Given the description of an element on the screen output the (x, y) to click on. 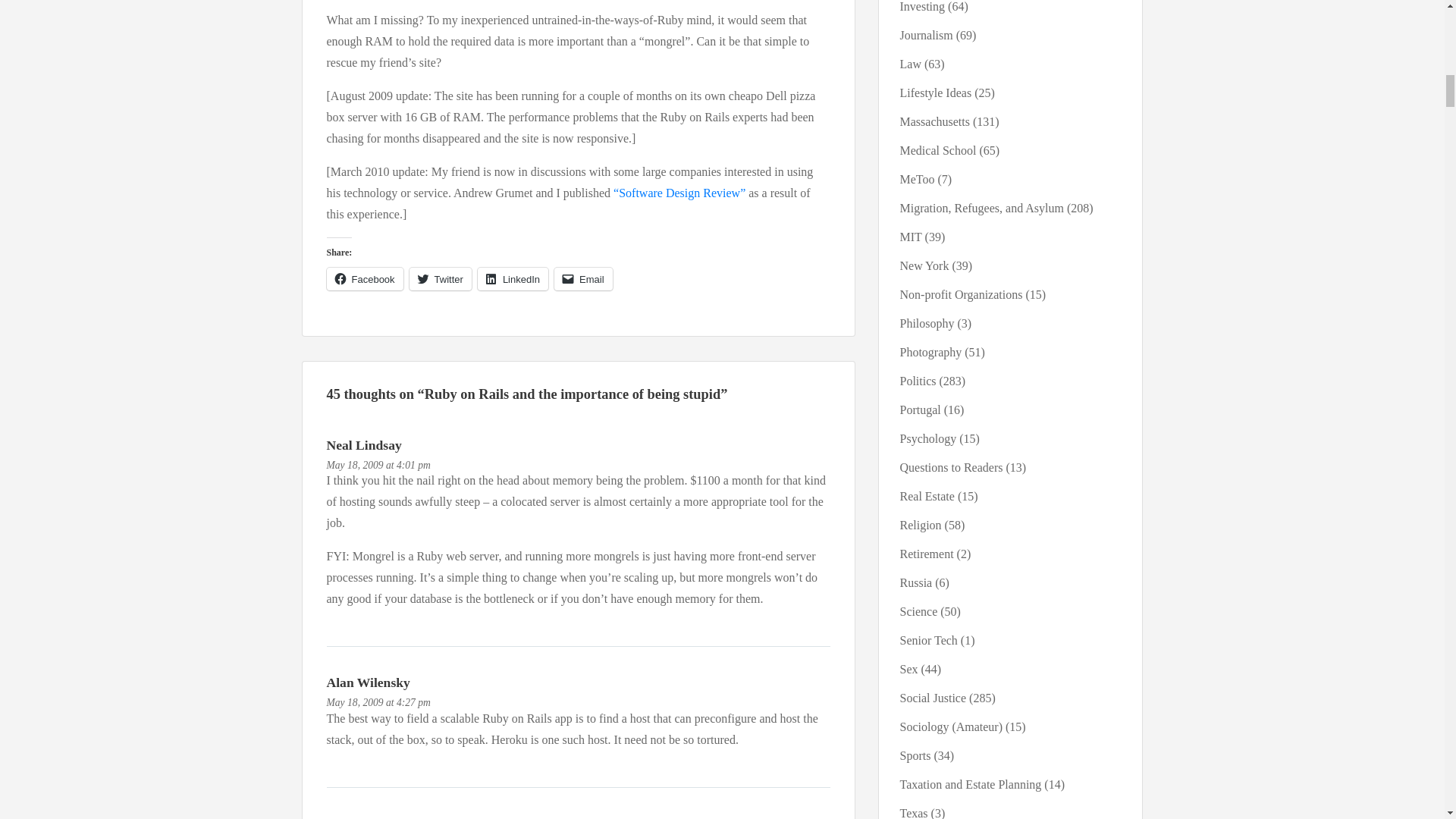
Dan Quellhorst (369, 817)
Neal Lindsay (363, 444)
Facebook (364, 278)
LinkedIn (512, 278)
Twitter (440, 278)
Email (583, 278)
Click to share on LinkedIn (512, 278)
May 18, 2009 at 4:01 pm (377, 464)
Click to share on Twitter (440, 278)
May 18, 2009 at 4:27 pm (377, 702)
Click to share on Facebook (364, 278)
Alan Wilensky (367, 682)
Click to email a link to a friend (583, 278)
